Given the description of an element on the screen output the (x, y) to click on. 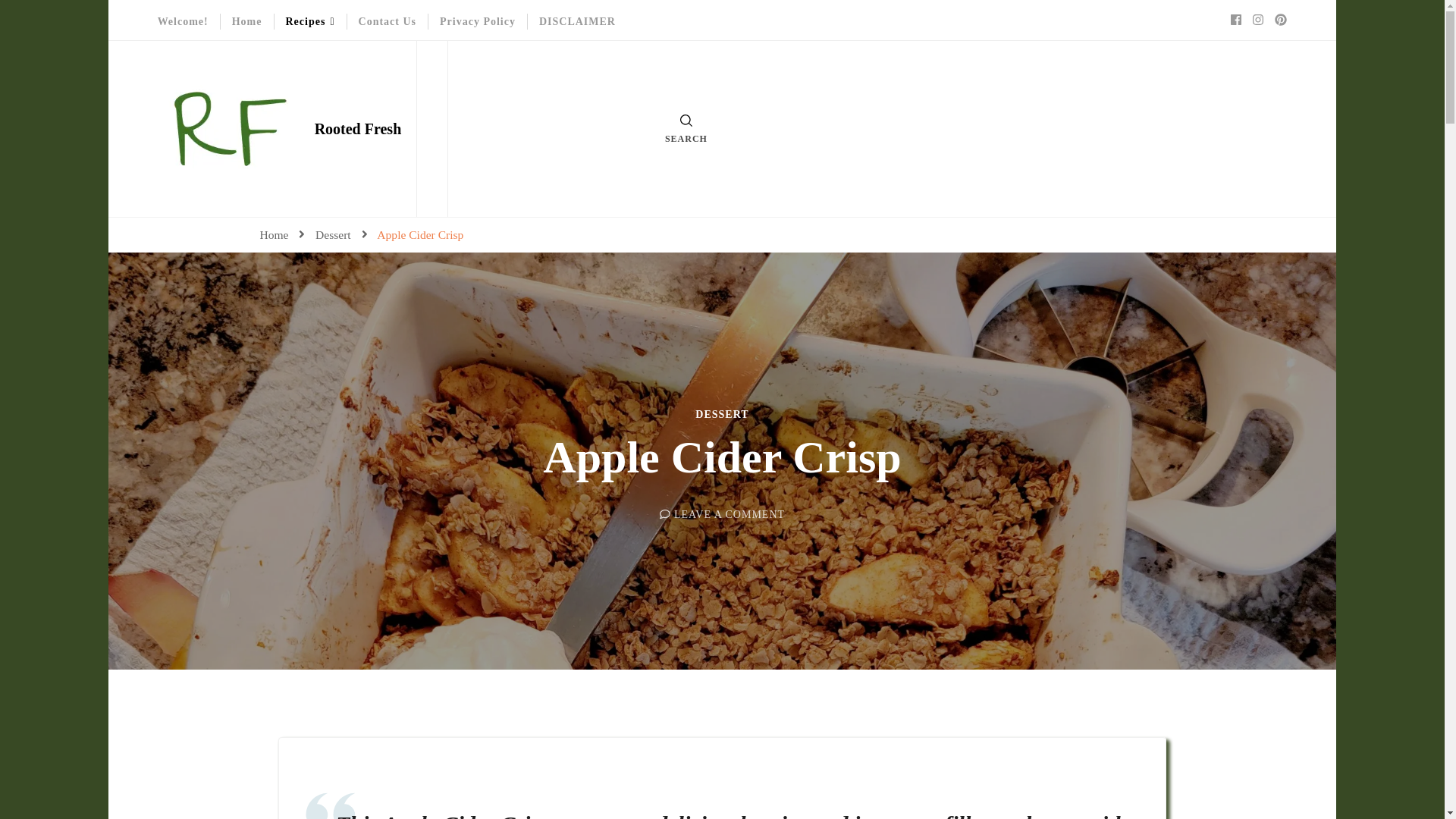
Home (246, 21)
Welcome! (182, 21)
Recipes (309, 21)
